Given the description of an element on the screen output the (x, y) to click on. 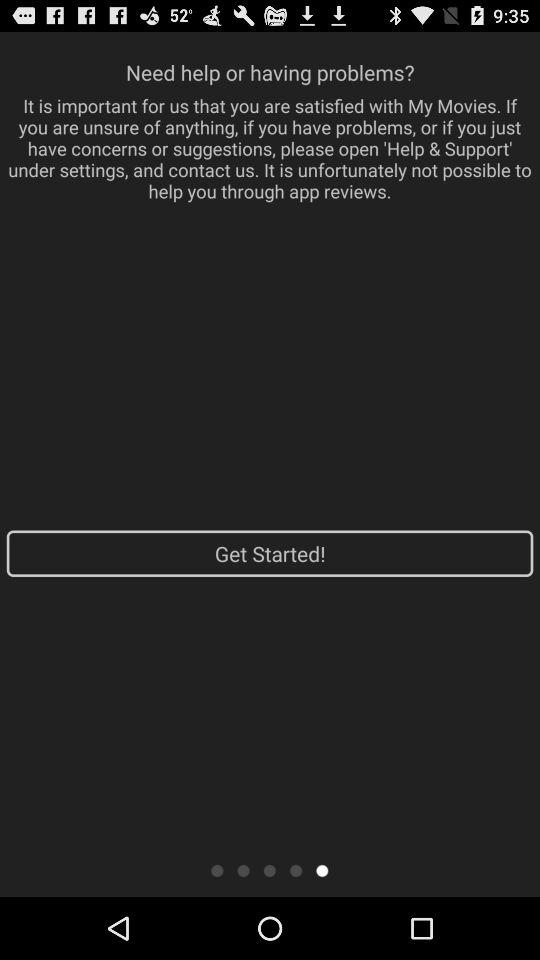
click the item below the get started! item (243, 870)
